Given the description of an element on the screen output the (x, y) to click on. 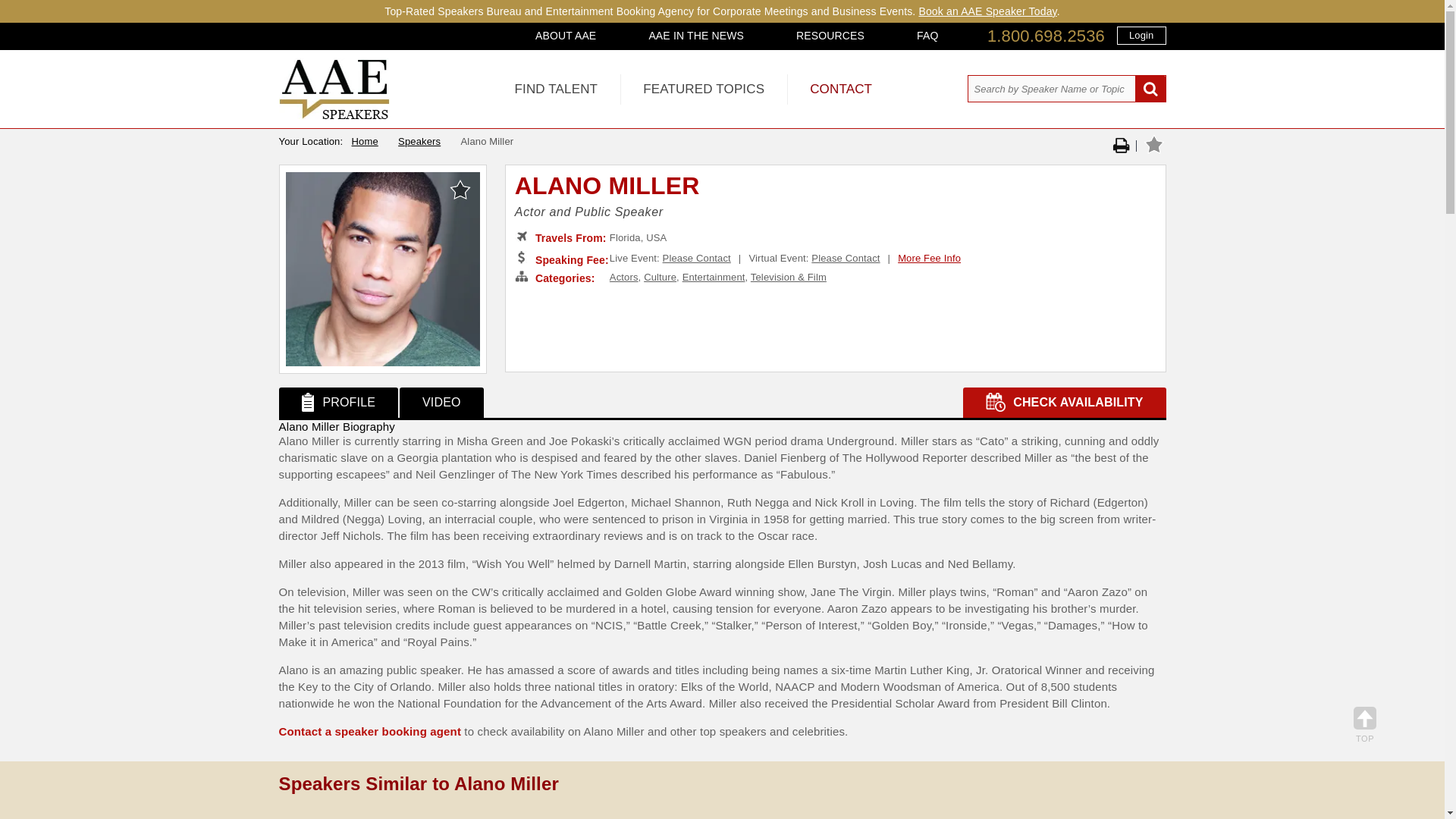
Search (1150, 89)
1.800.698.2536 (1046, 35)
FAQ (927, 34)
AAE IN THE NEWS (695, 34)
Book an AAE Speaker Today (987, 10)
All American Speakers Bureau and Celebrity Booking Agency (334, 115)
RESOURCES (829, 34)
ABOUT AAE (565, 34)
Login (1141, 35)
